Given the description of an element on the screen output the (x, y) to click on. 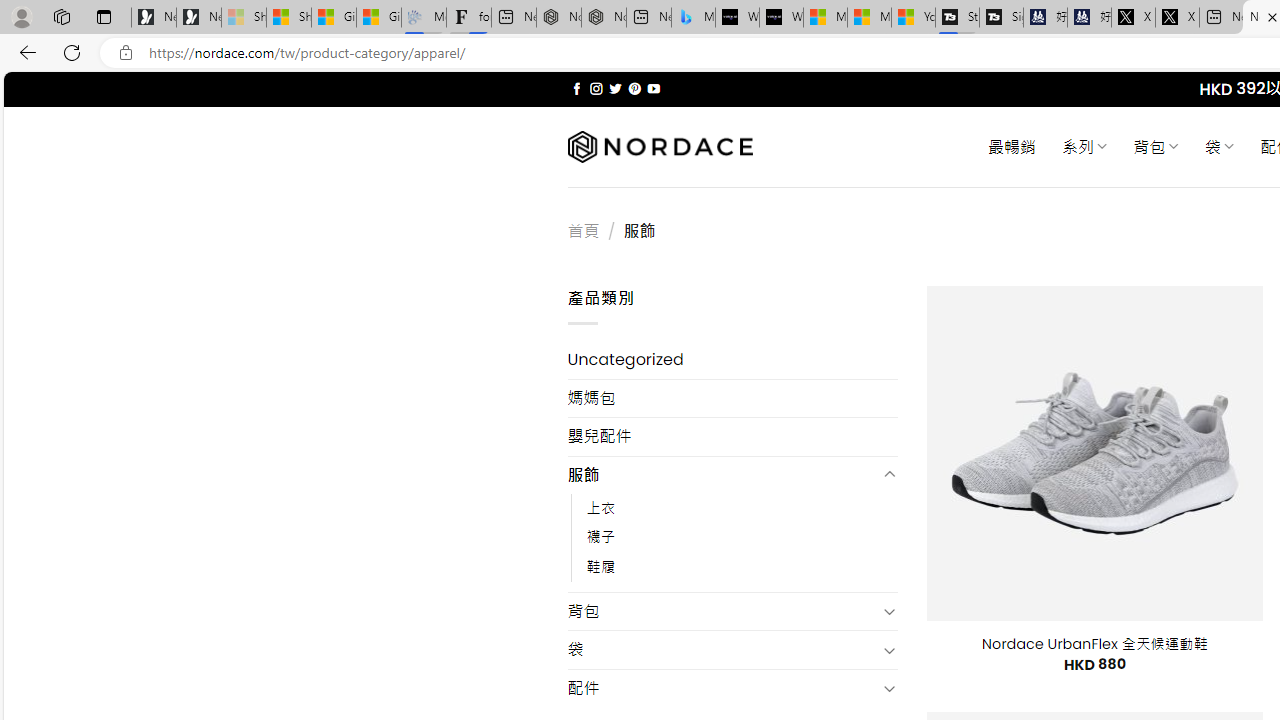
Follow on Instagram (596, 88)
Microsoft Bing Travel - Shangri-La Hotel Bangkok (693, 17)
